Given the description of an element on the screen output the (x, y) to click on. 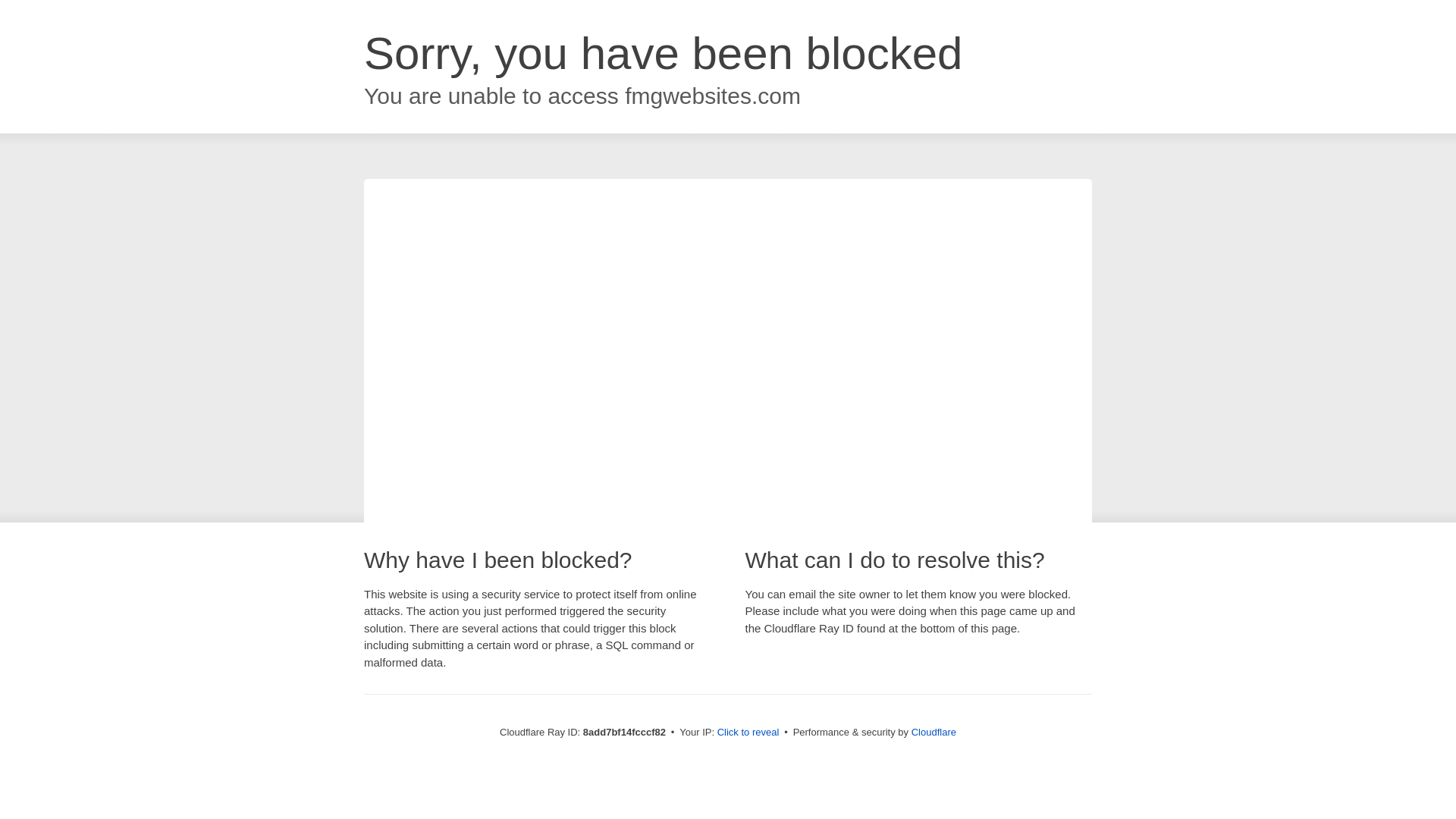
Cloudflare (933, 731)
Click to reveal (747, 732)
